Given the description of an element on the screen output the (x, y) to click on. 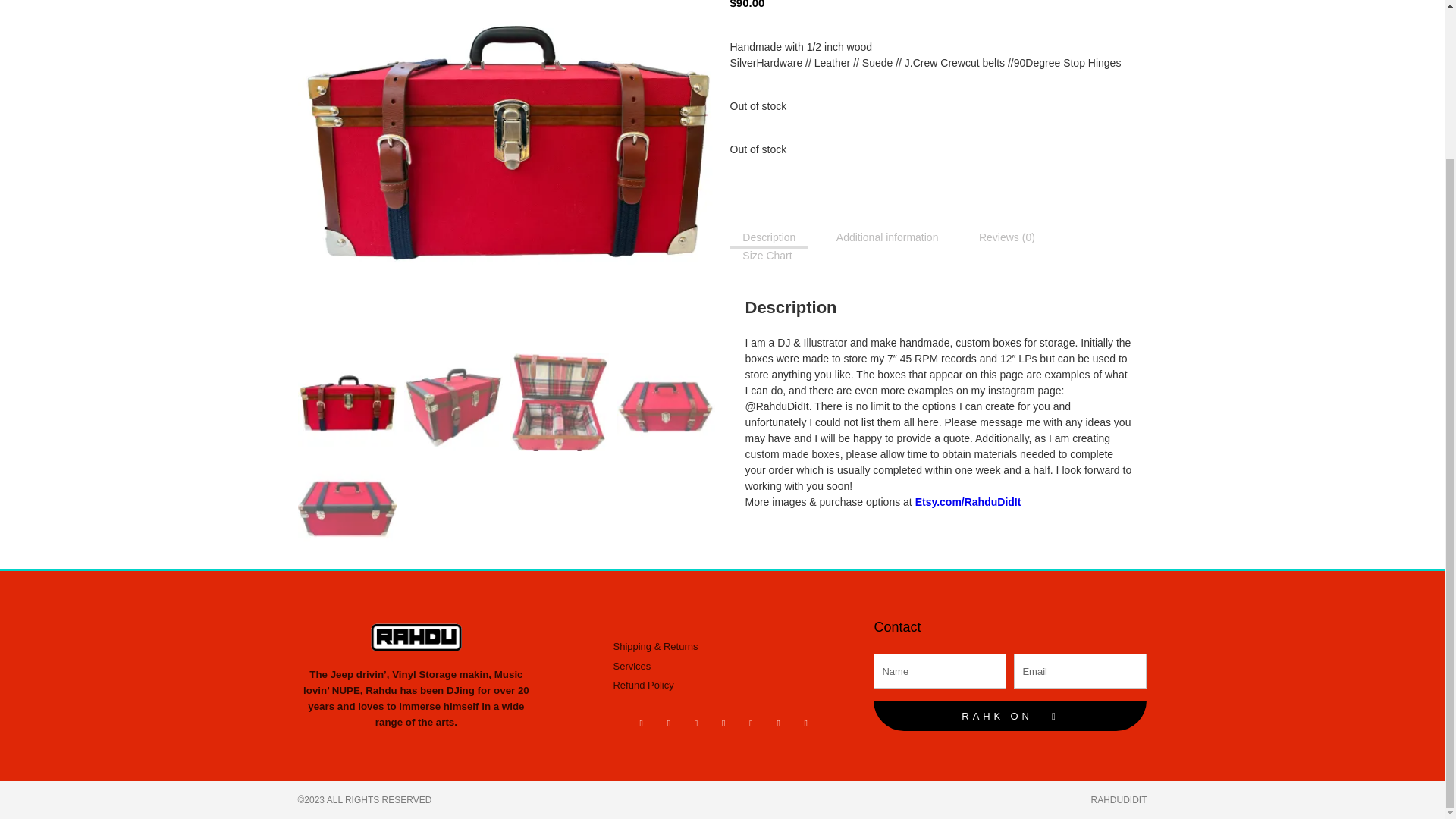
Description (768, 236)
range (389, 722)
Additional information (887, 236)
Size Chart (767, 255)
Storage (438, 674)
